Given the description of an element on the screen output the (x, y) to click on. 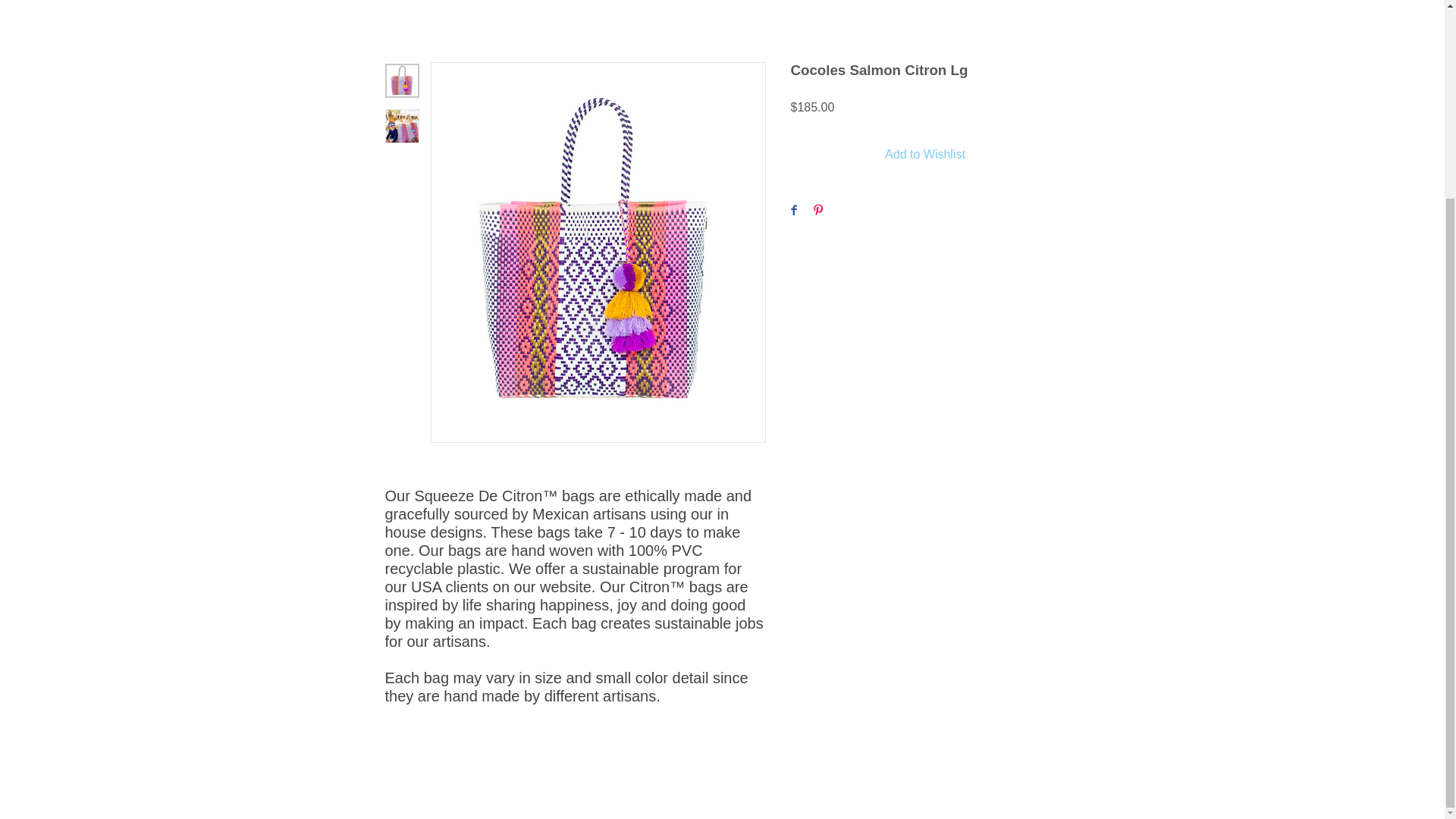
Add to Wishlist (924, 154)
